Given the description of an element on the screen output the (x, y) to click on. 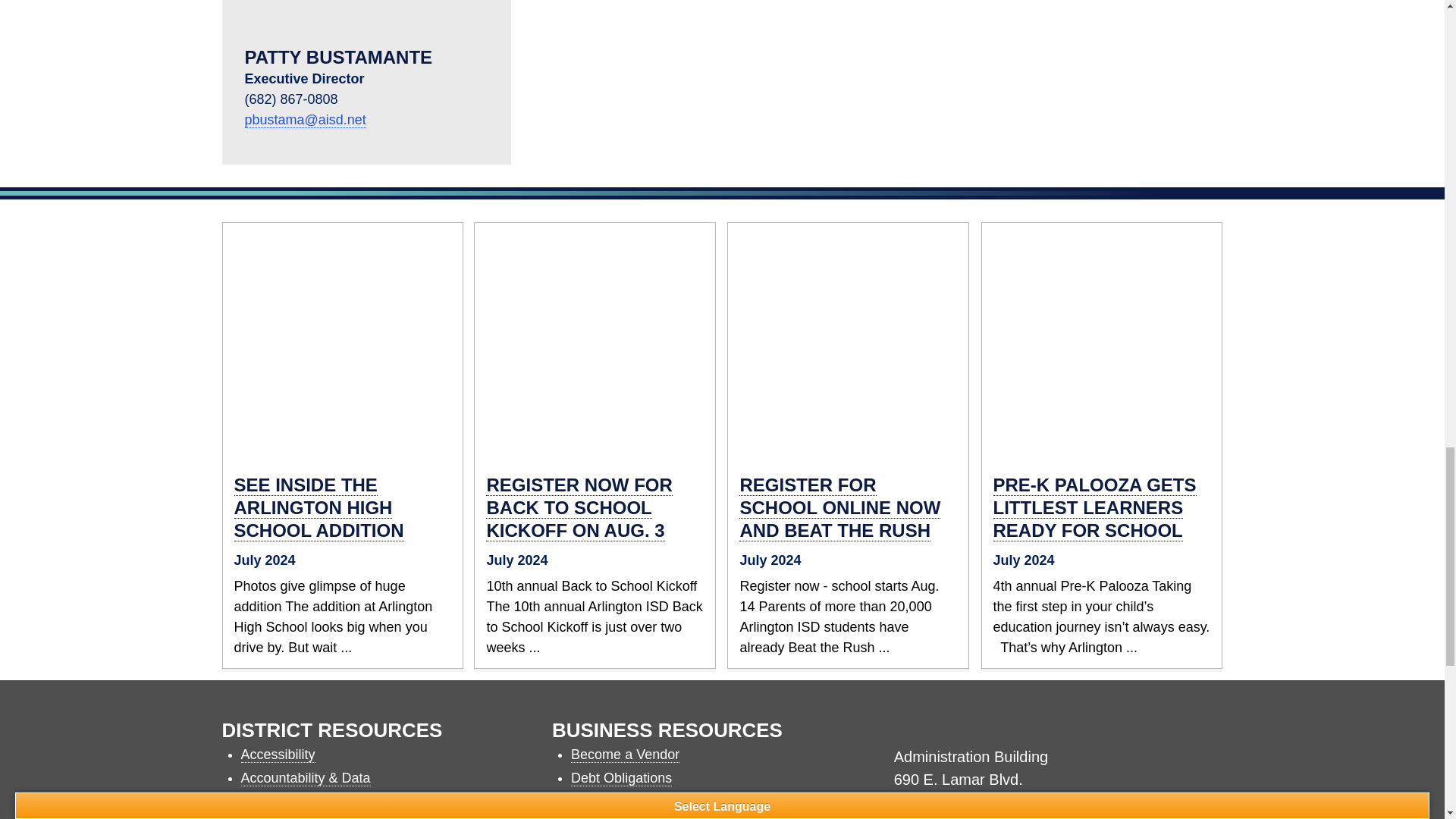
See inside the Arlington High School addition (342, 341)
Register now for Back to School Kickoff on Aug. 3 (594, 341)
Register for school online now and Beat the Rush (839, 508)
Register now for Back to School Kickoff on Aug. 3 (578, 508)
Pre-K Palooza gets littlest learners ready for school (1101, 341)
Register for school online now and Beat the Rush (848, 341)
Pre-K Palooza gets littlest learners ready for school (1094, 508)
See inside the Arlington High School addition (317, 508)
